Given the description of an element on the screen output the (x, y) to click on. 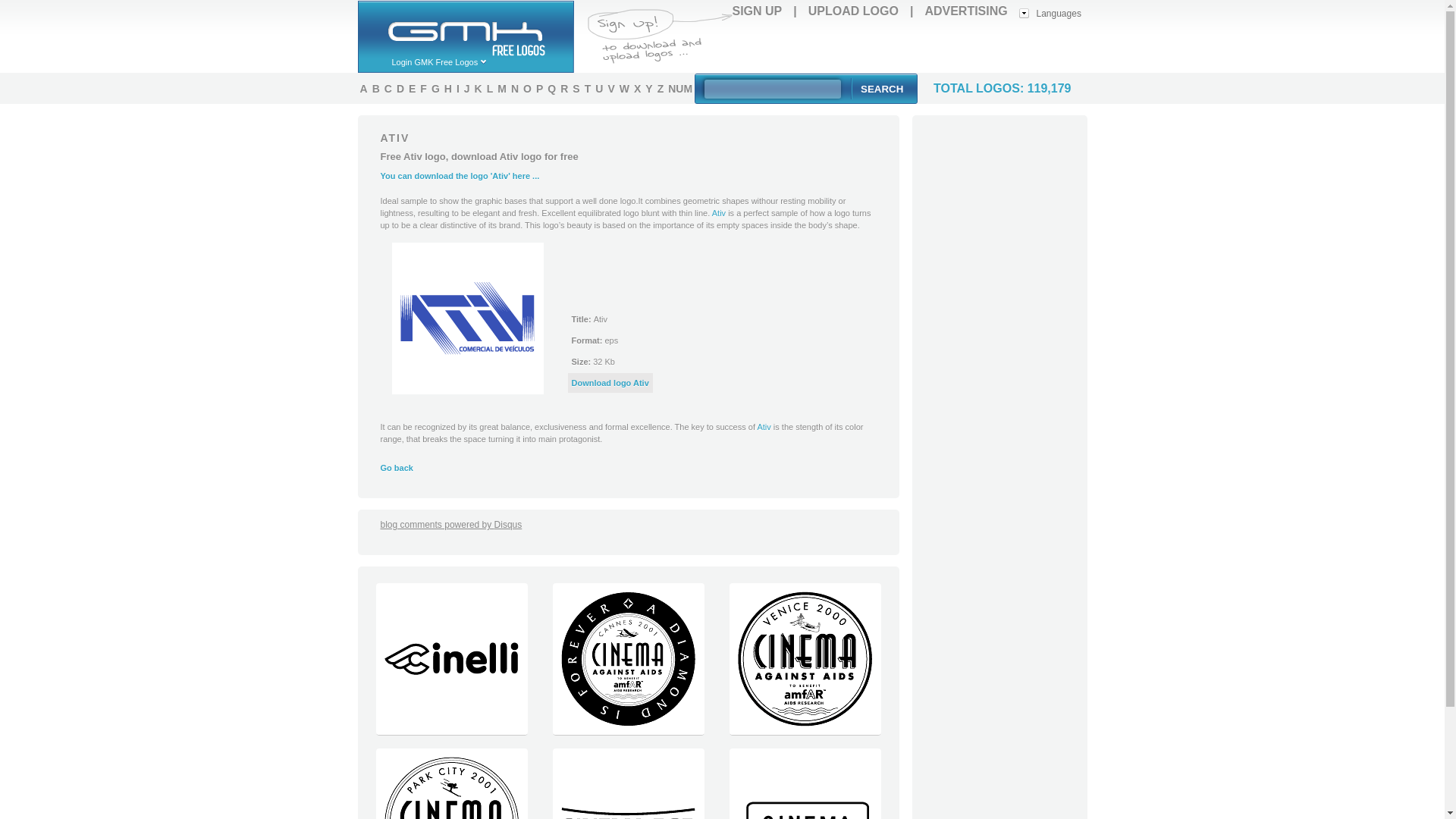
Ativ (718, 212)
Download Logo Cinema Against AIDS (804, 730)
UPLOAD LOGO (853, 10)
Download Ativ (610, 382)
ADVERTISING (965, 10)
Download Ativ (467, 317)
Go back (396, 467)
Ativ (718, 212)
Search (881, 88)
Login GMK Free Logos (446, 61)
SIGN UP (757, 10)
Download Logo Cinelli (450, 730)
You can download the logo 'Ativ' here ... (460, 175)
Ativ (763, 426)
